Given the description of an element on the screen output the (x, y) to click on. 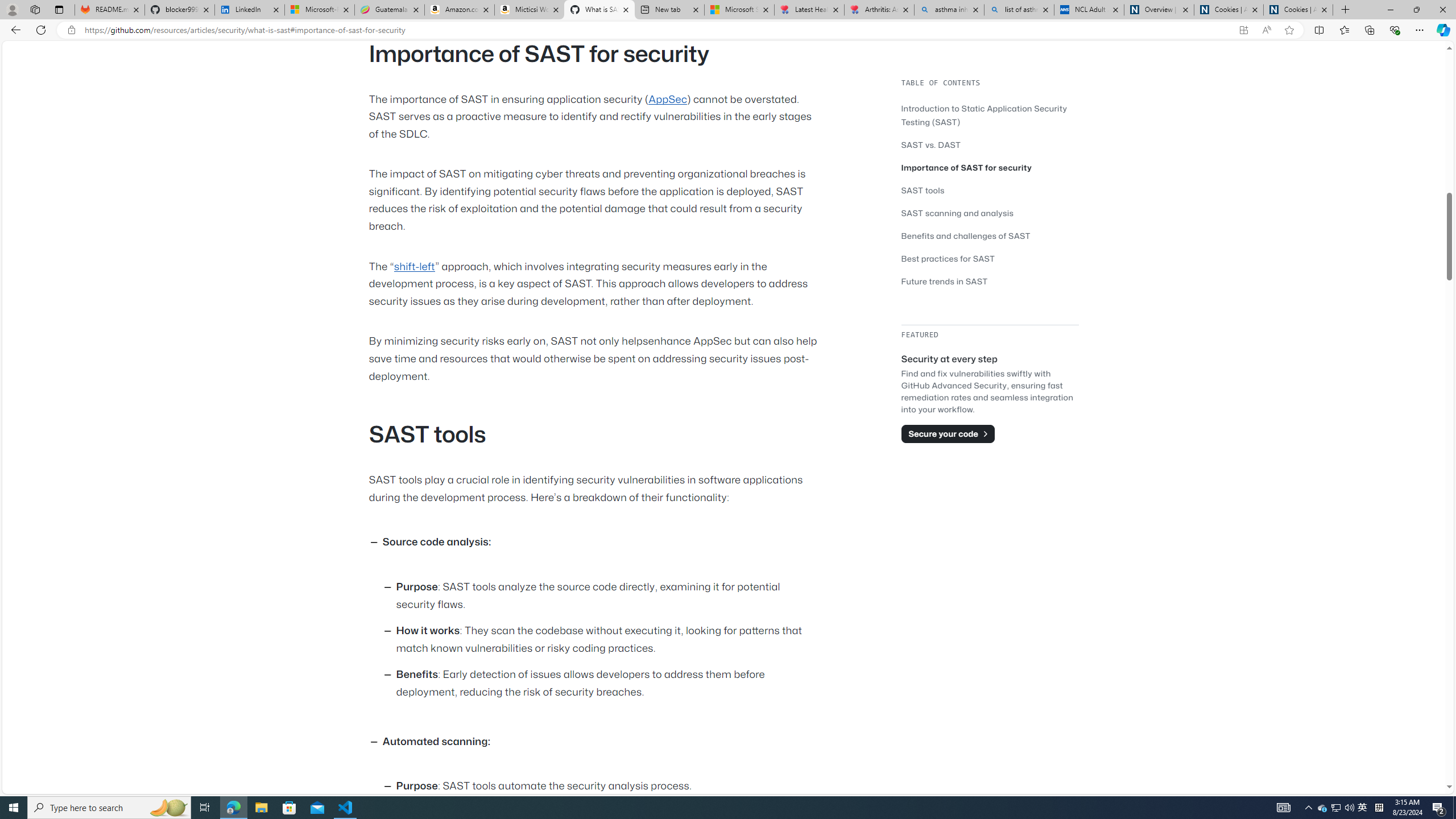
SAST vs. DAST (989, 144)
SAST tools (989, 190)
asthma inhaler - Search (949, 9)
AppSec (667, 99)
LinkedIn (249, 9)
Purpose: SAST tools automate the security analysis process. (608, 787)
